Given the description of an element on the screen output the (x, y) to click on. 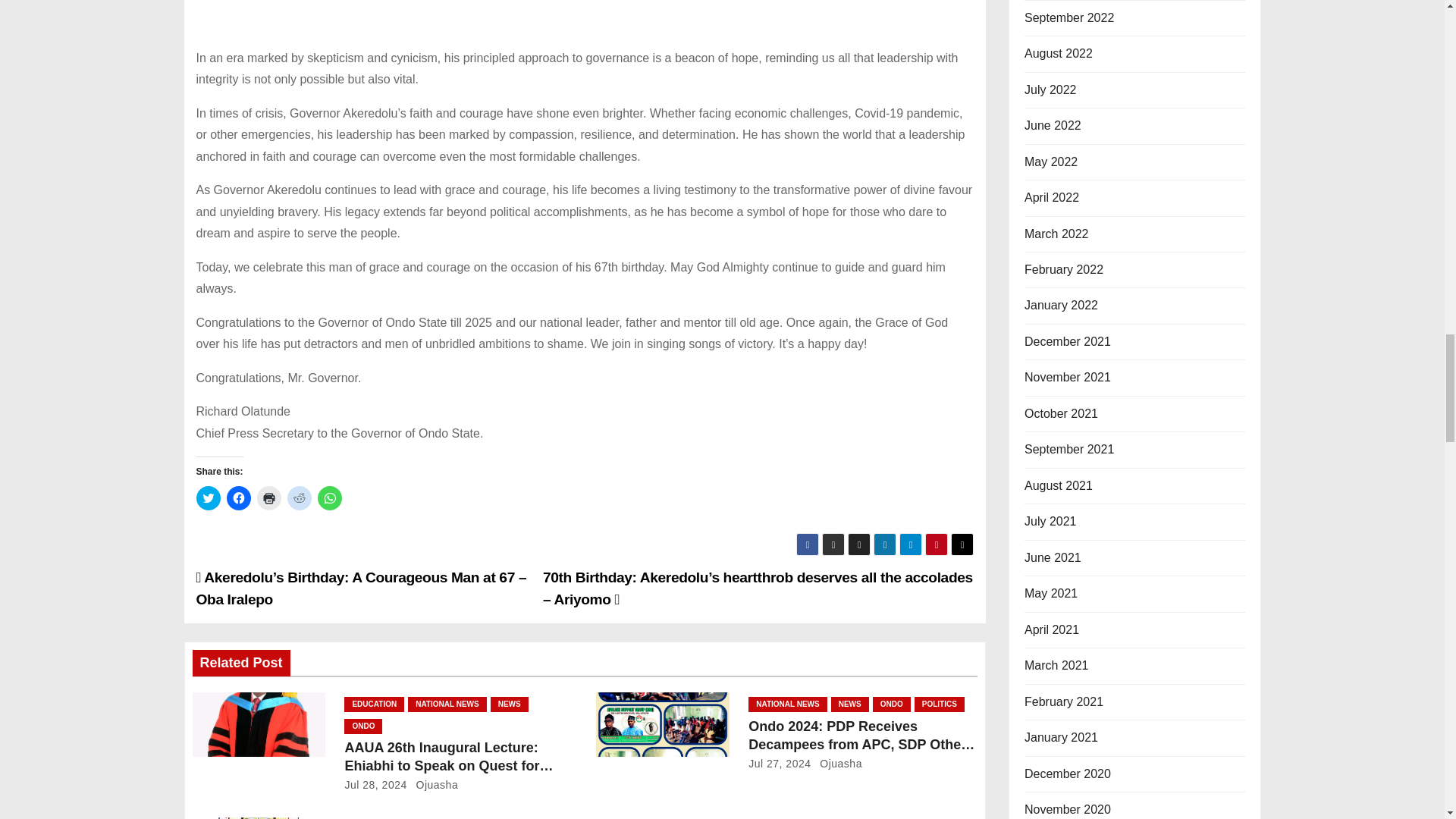
Advertisement (584, 23)
